Given the description of an element on the screen output the (x, y) to click on. 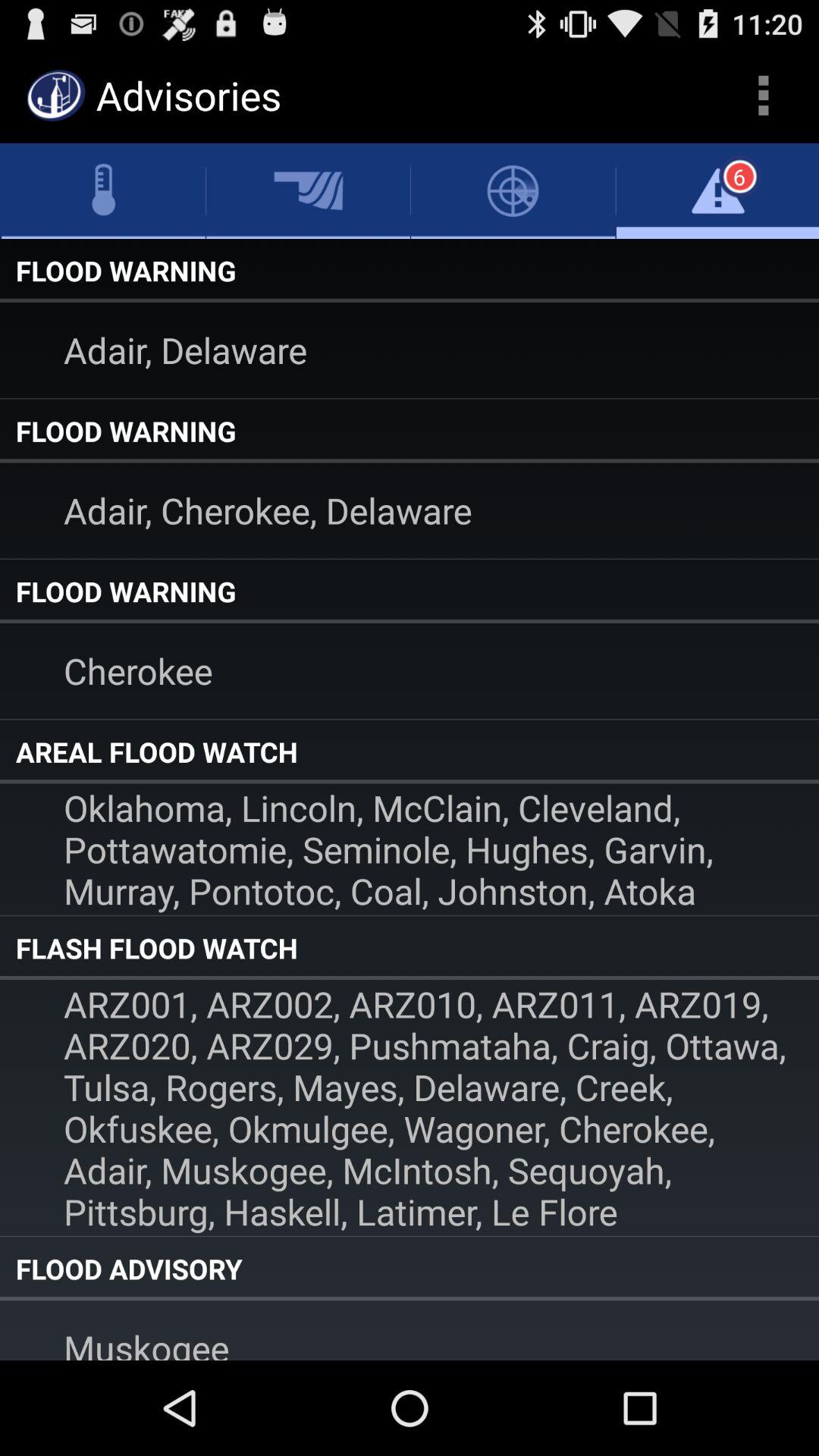
turn on app above flood advisory app (409, 1107)
